Given the description of an element on the screen output the (x, y) to click on. 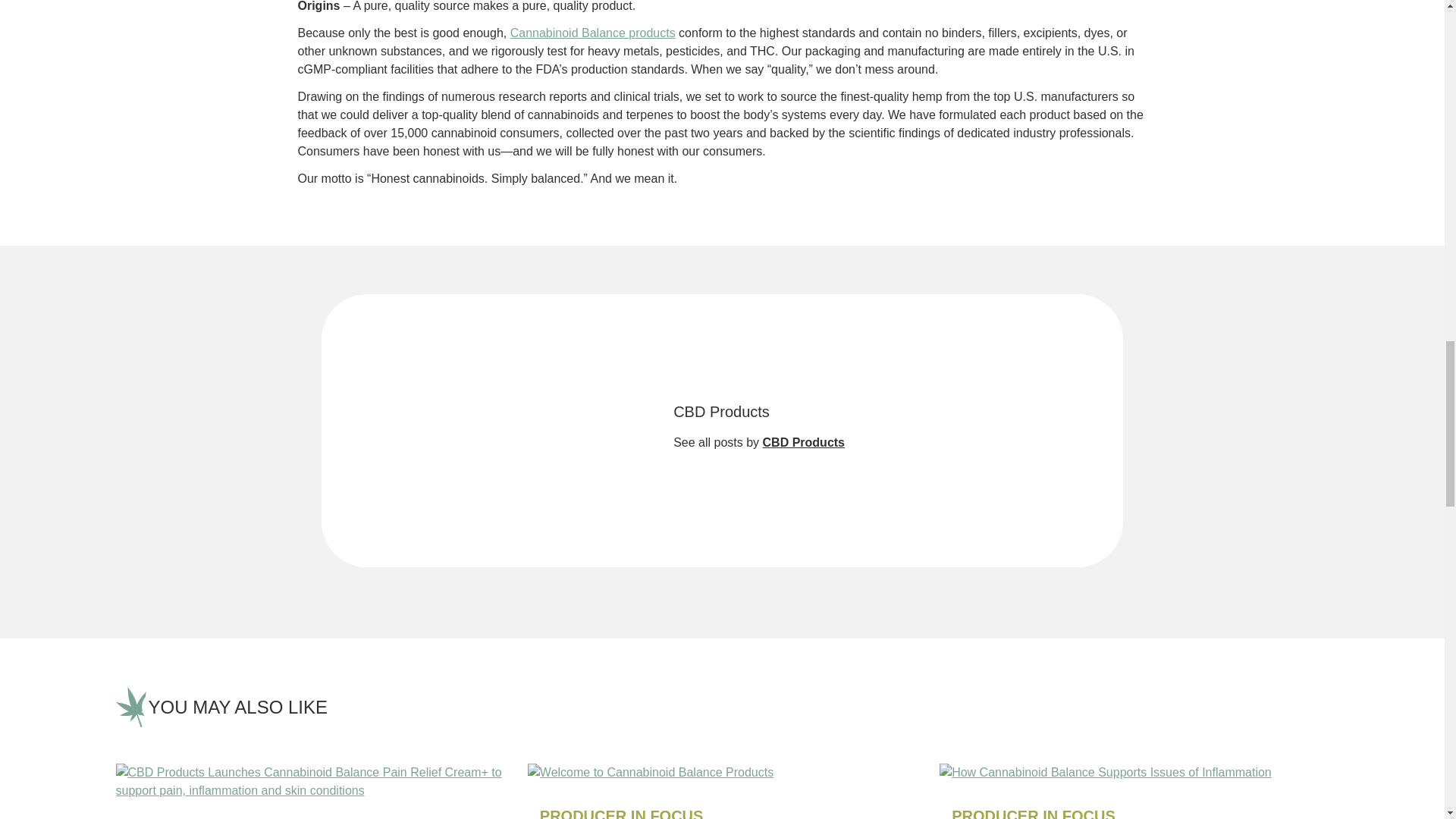
PRODUCER IN FOCUS (1033, 813)
PRODUCER IN FOCUS (621, 813)
Cannabinoid Balance products (593, 32)
CBD Products (803, 440)
